Given the description of an element on the screen output the (x, y) to click on. 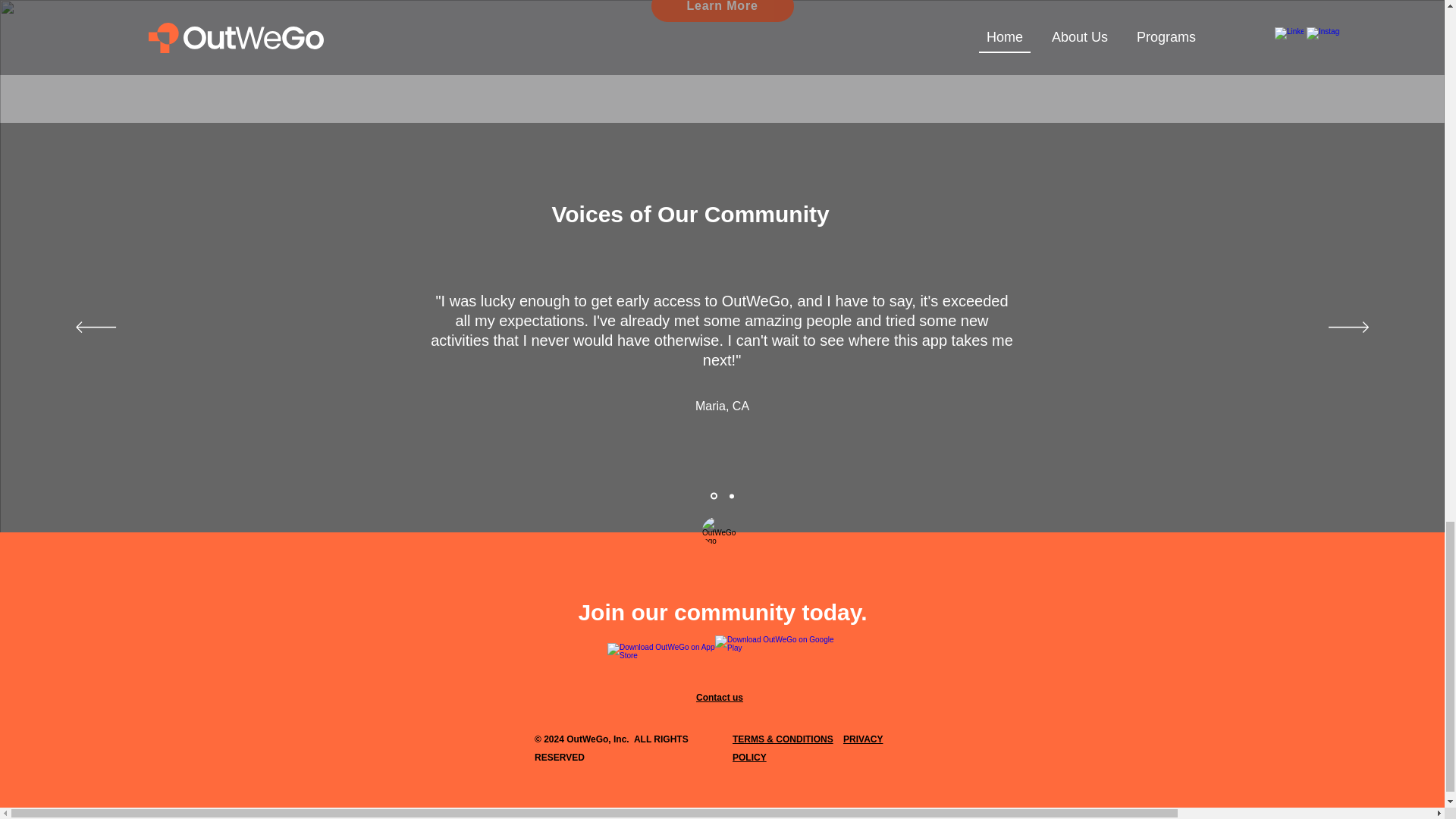
Screenshot 2023-01-26 at 9.05.47 PM.png (719, 534)
PRIVACY POLICY (807, 747)
Contact us (718, 697)
Learn More (721, 11)
